Given the description of an element on the screen output the (x, y) to click on. 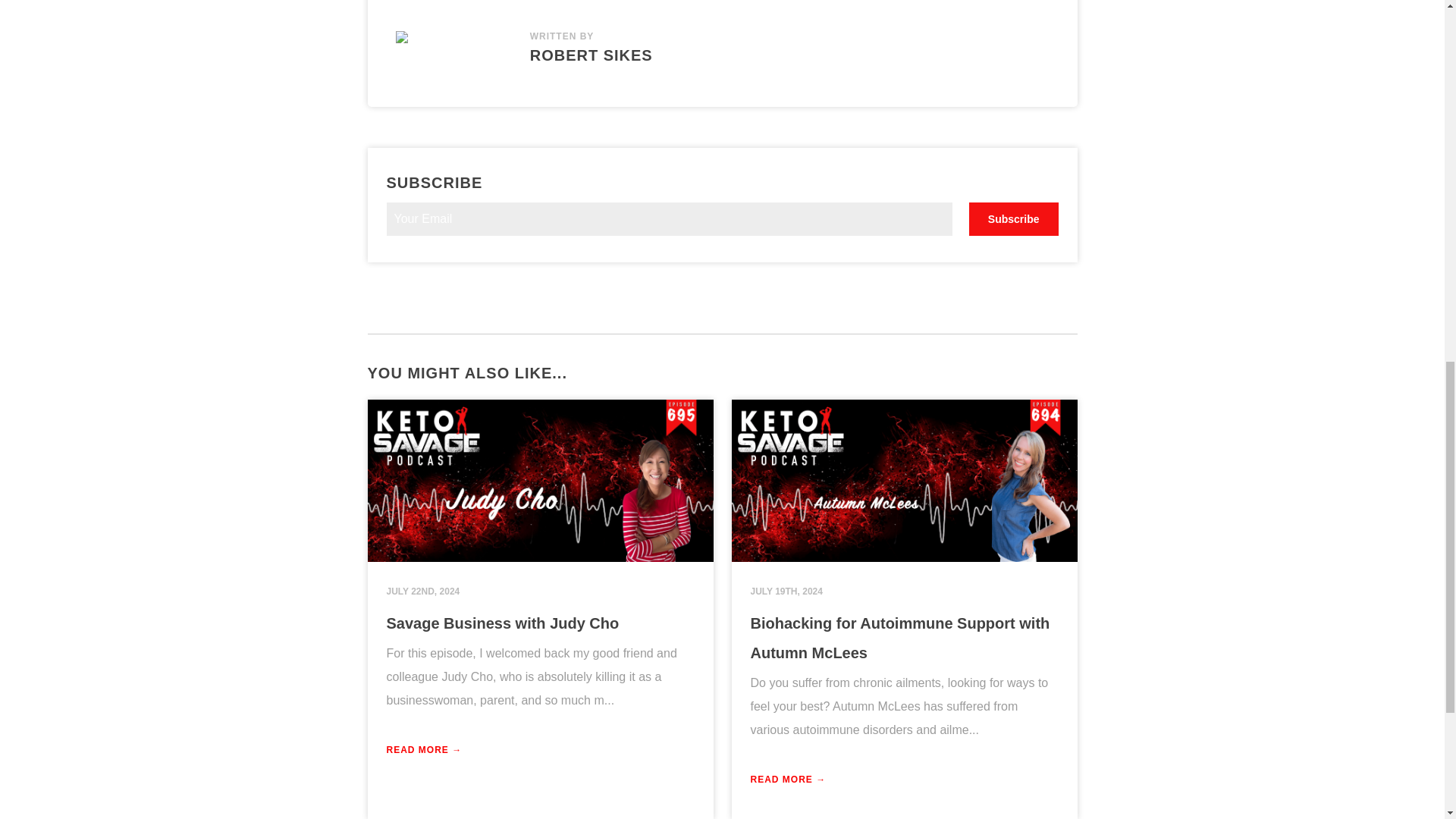
Subscribe (1013, 218)
Subscribe (1013, 218)
Savage Business with Judy Cho (503, 623)
Biohacking for Autoimmune Support with Autumn McLees (900, 637)
